Given the description of an element on the screen output the (x, y) to click on. 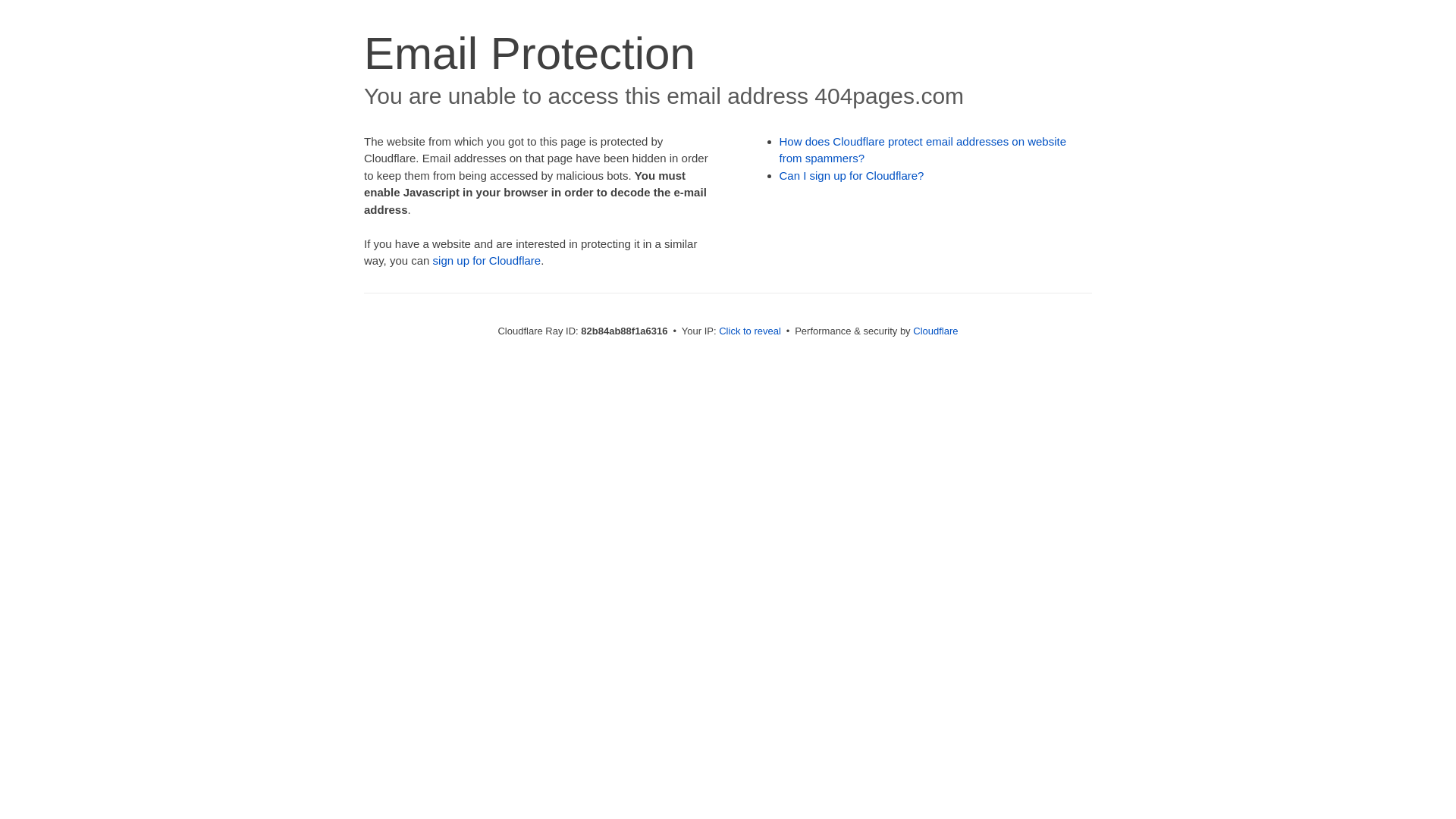
Can I sign up for Cloudflare? Element type: text (851, 175)
Cloudflare Element type: text (935, 330)
sign up for Cloudflare Element type: text (487, 260)
Click to reveal Element type: text (749, 330)
